Given the description of an element on the screen output the (x, y) to click on. 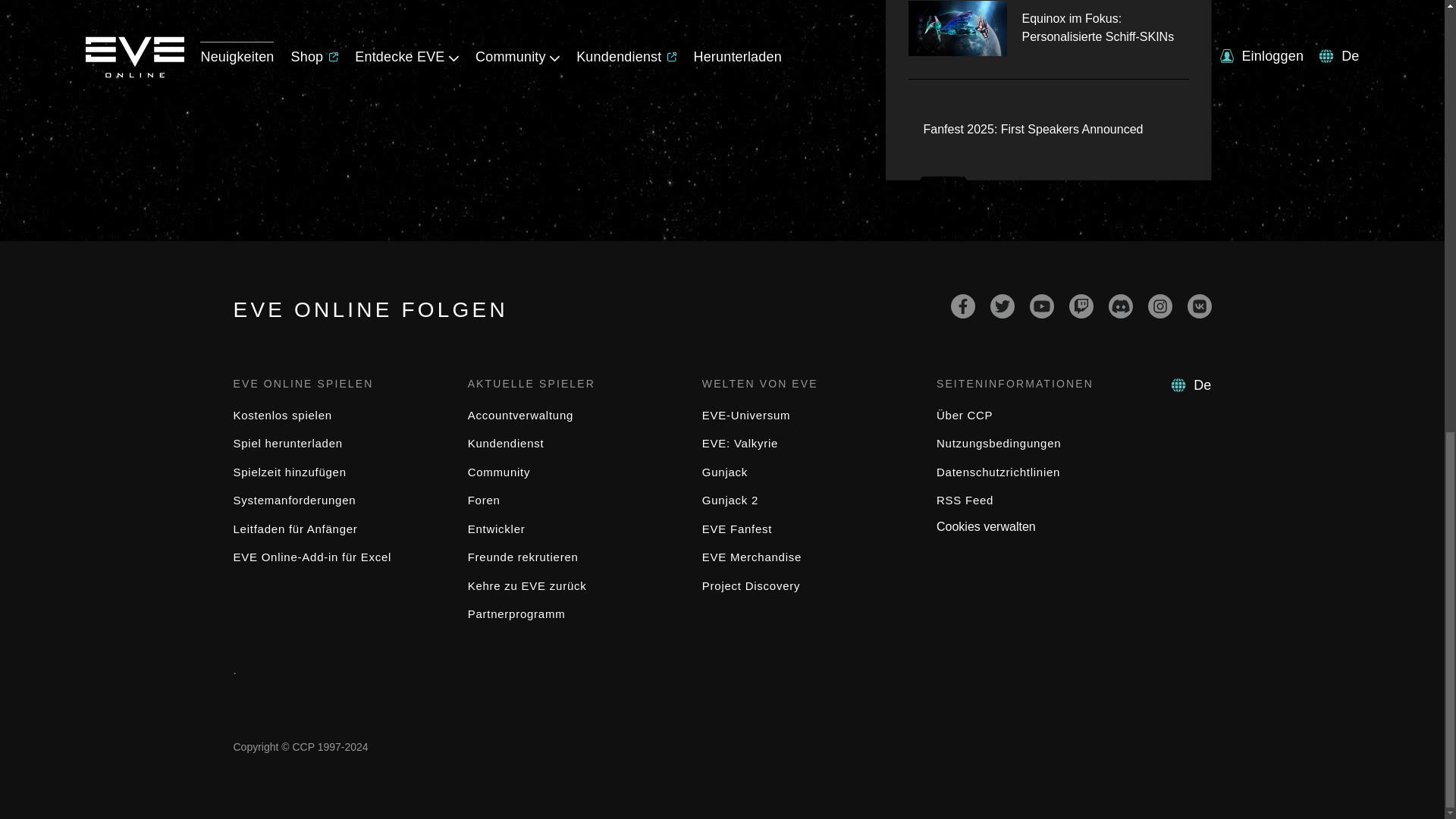
Discord (1120, 306)
Facebook (962, 306)
Instagram (1160, 306)
YouTube (1041, 306)
VK (1199, 306)
Twitch (1080, 306)
Twitter (1002, 306)
